Given the description of an element on the screen output the (x, y) to click on. 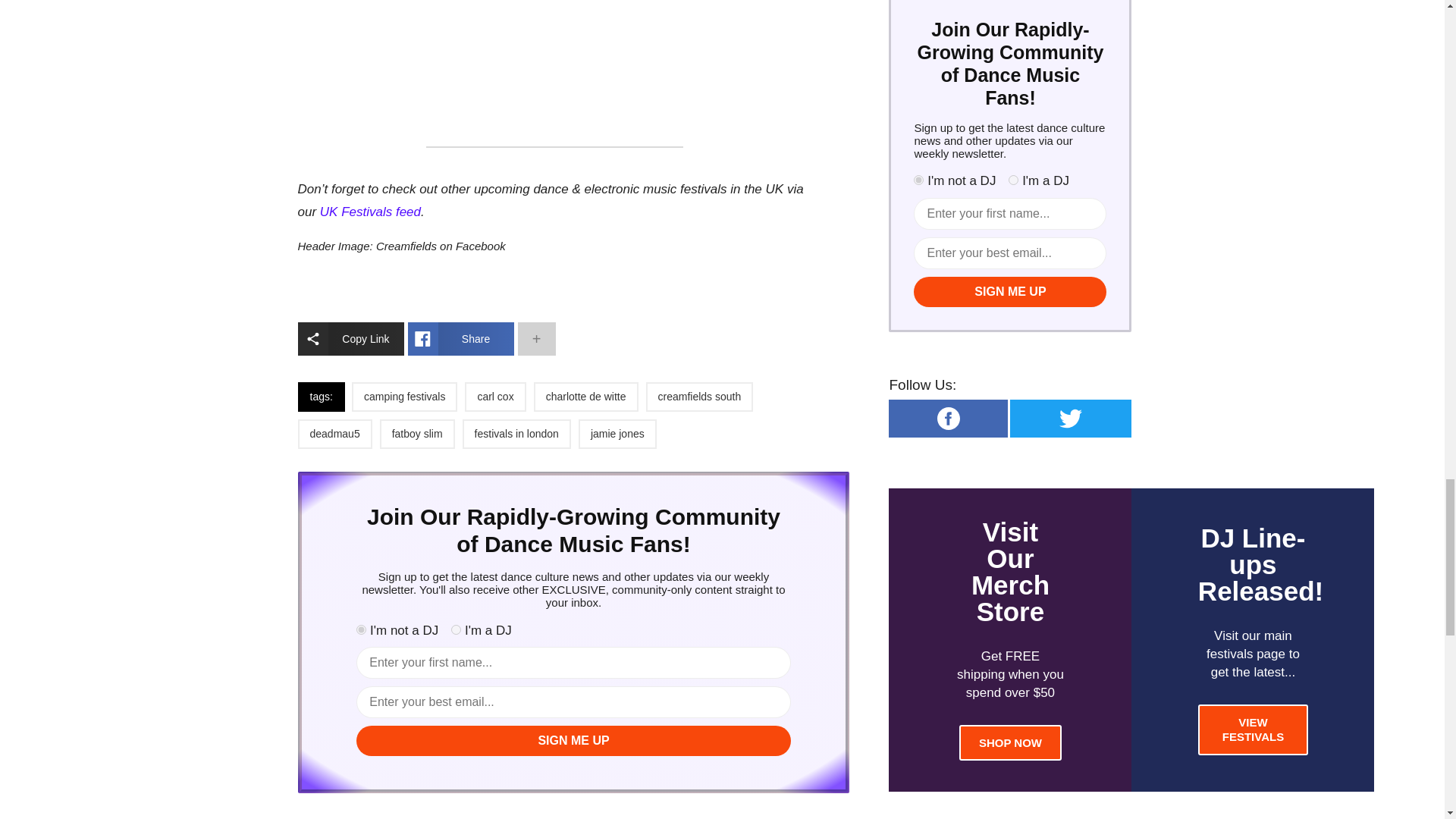
UK Festivals feed (370, 211)
I'm not a DJ (361, 629)
Sign me up (573, 740)
Copy Link (350, 338)
Share (460, 338)
I'm a DJ (456, 629)
